Given the description of an element on the screen output the (x, y) to click on. 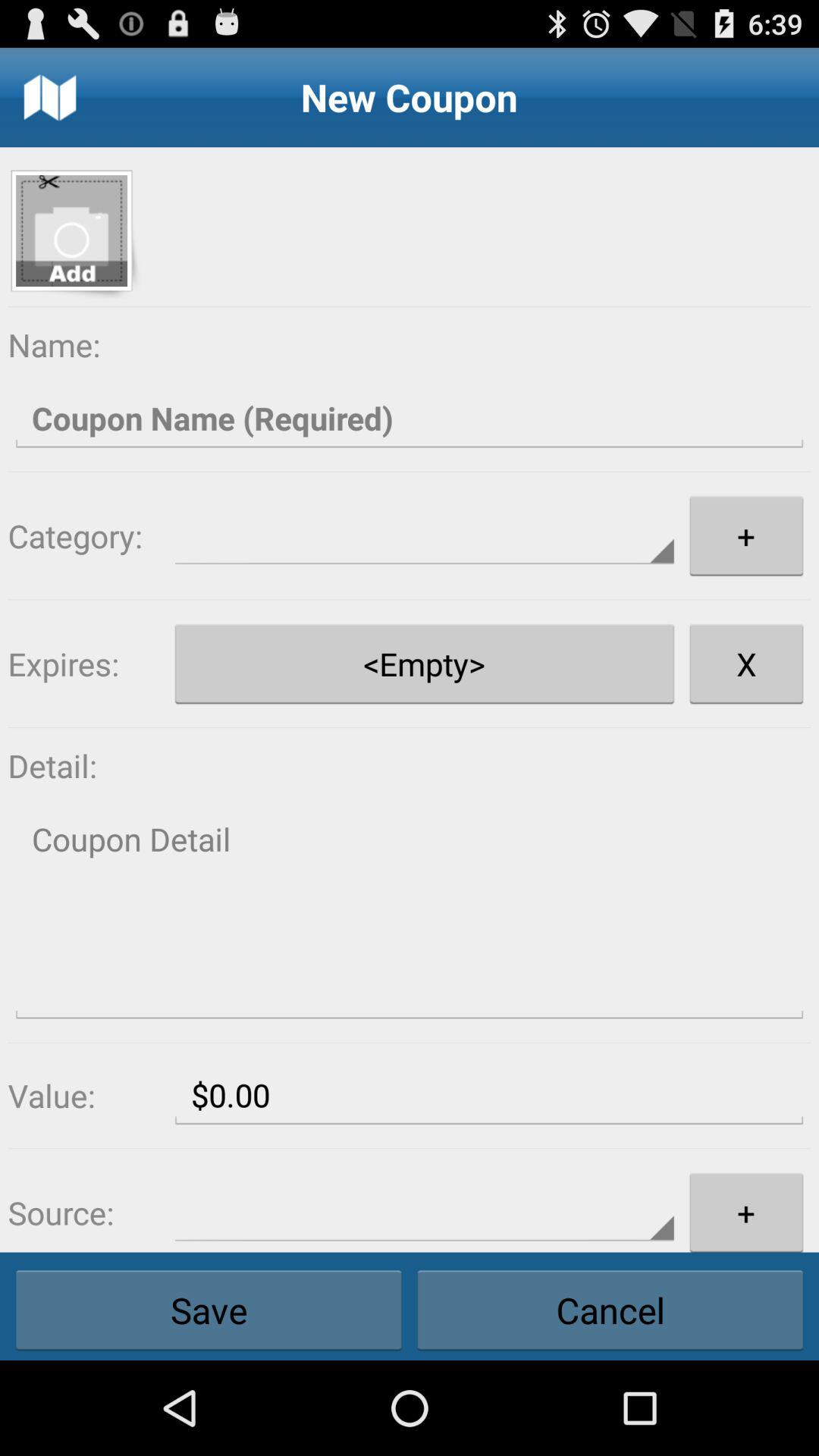
coupon page (409, 914)
